Given the description of an element on the screen output the (x, y) to click on. 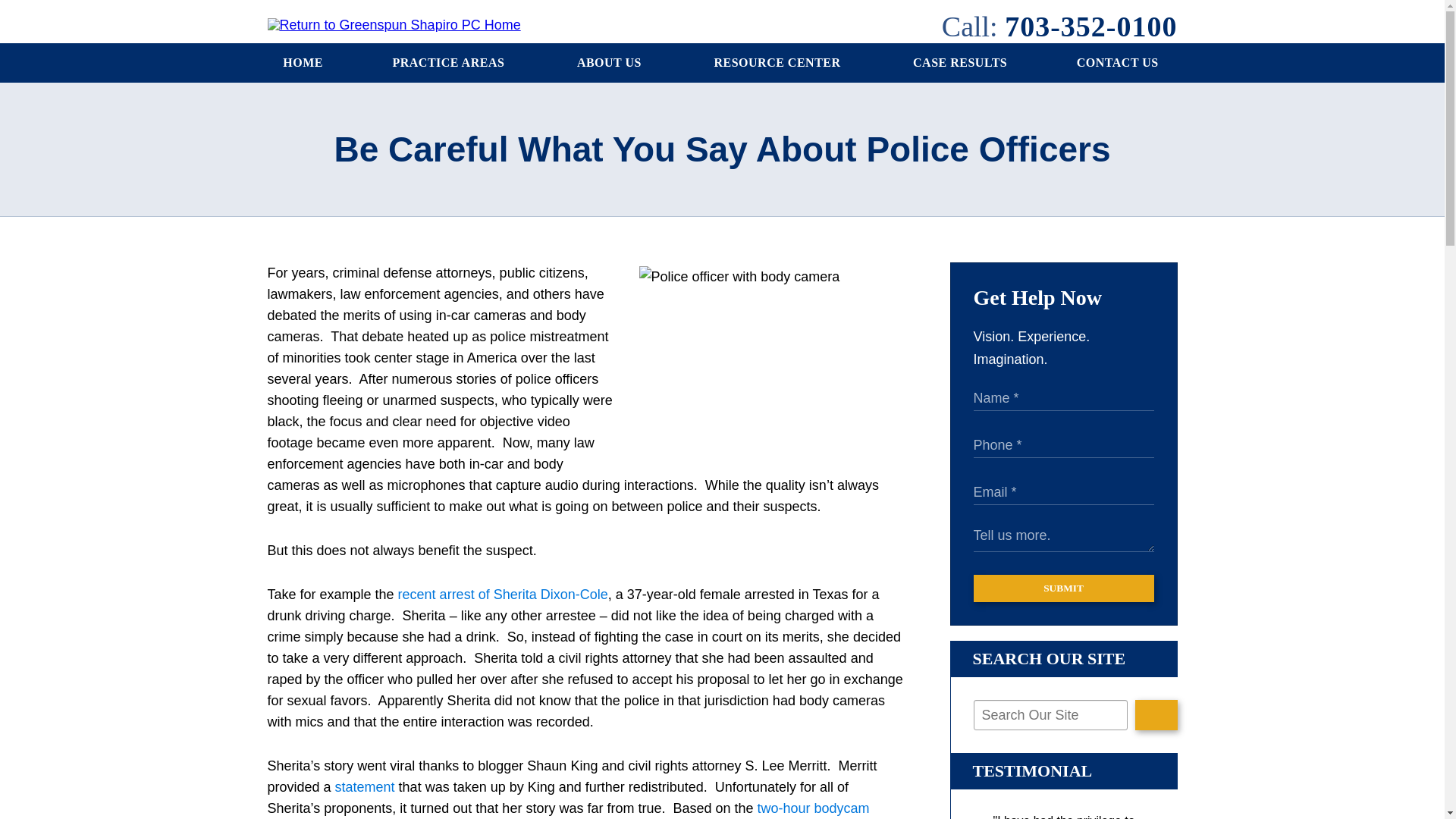
PRACTICE AREAS (449, 62)
Search (1155, 715)
HOME (303, 62)
